Given the description of an element on the screen output the (x, y) to click on. 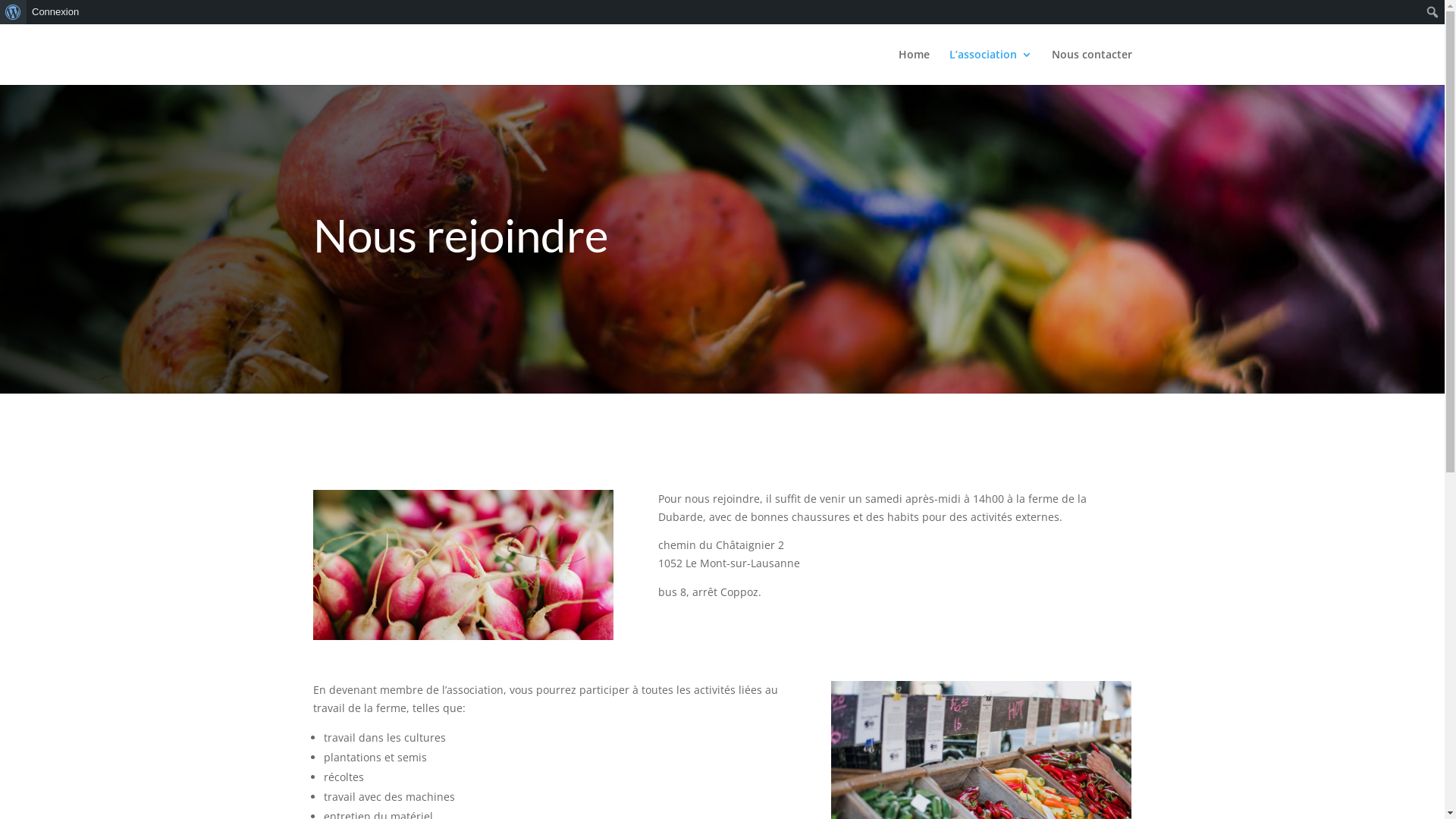
produce-26 Element type: hover (462, 564)
Connexion Element type: text (55, 12)
Rechercher Element type: text (26, 13)
Nous contacter Element type: text (1091, 66)
Home Element type: text (912, 66)
